Given the description of an element on the screen output the (x, y) to click on. 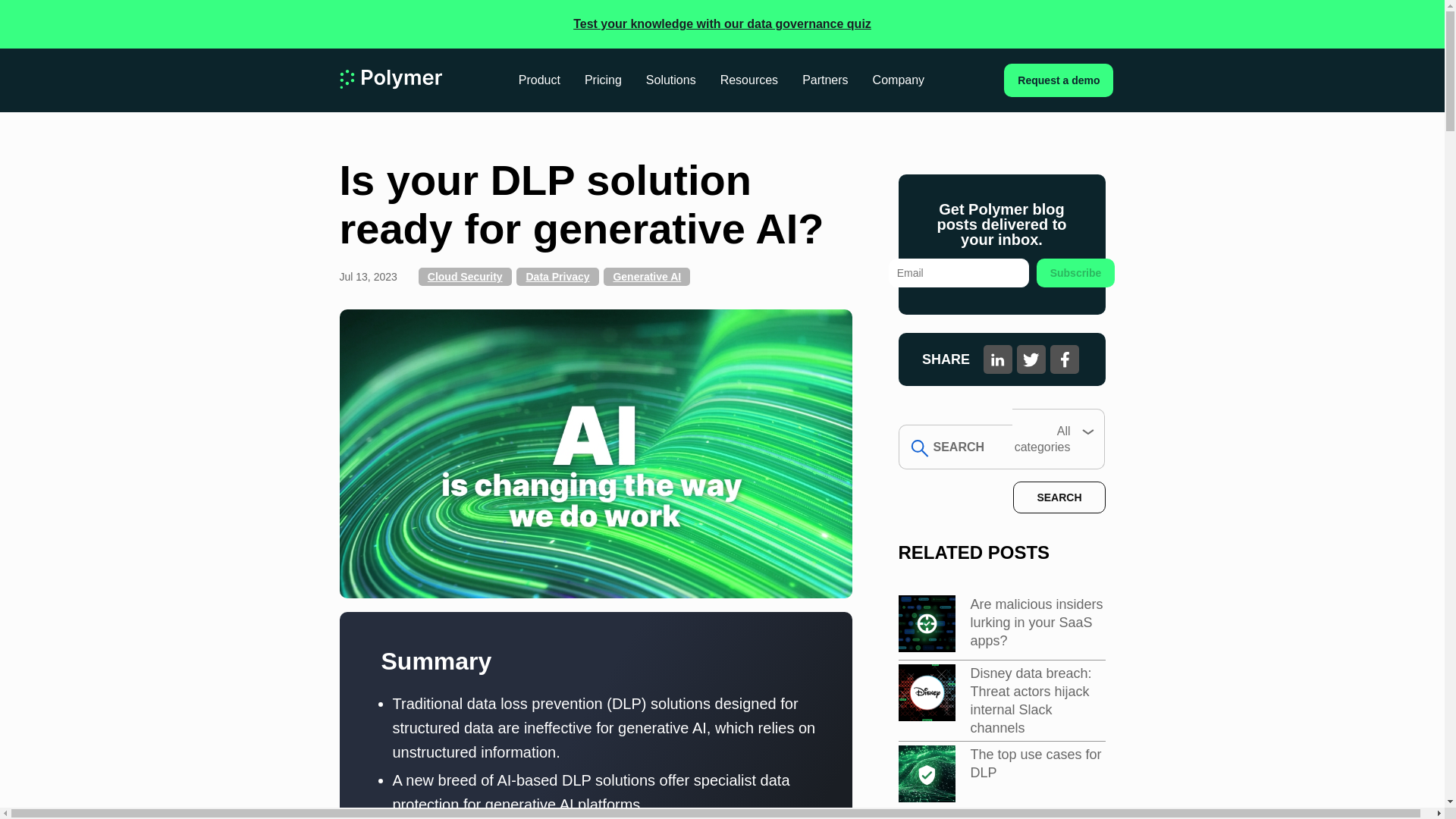
Cloud Security (465, 276)
Subscribe (1075, 272)
Test your knowledge with our data governance quiz (721, 23)
Product (539, 80)
Search (1059, 497)
search (954, 447)
Are malicious insiders lurking in your SaaS apps? (1037, 622)
Generative AI (647, 276)
The top use cases for DLP (1036, 763)
Data Privacy (557, 276)
